Given the description of an element on the screen output the (x, y) to click on. 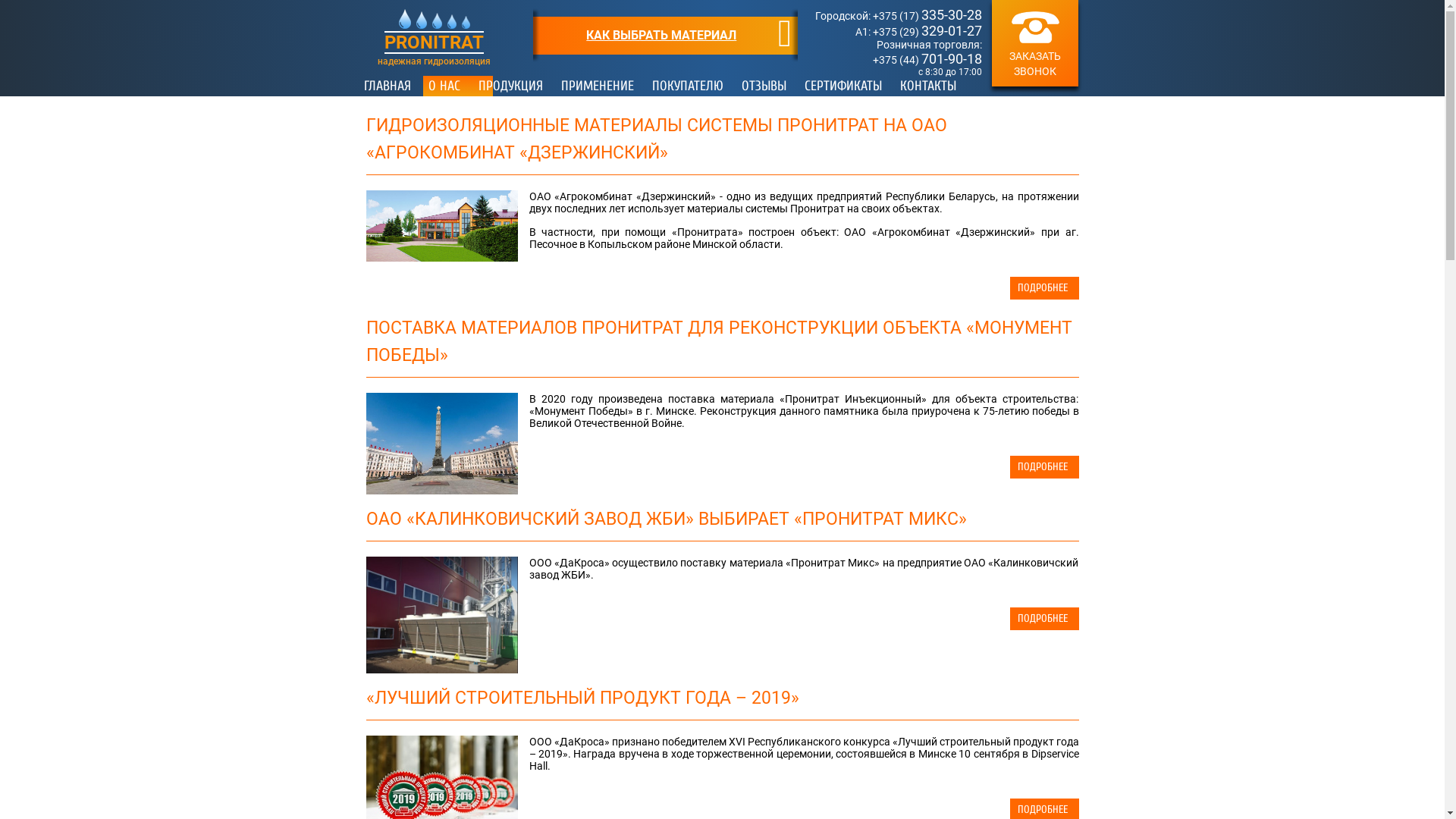
A1: +375 (29) 329-01-27 Element type: text (918, 31)
+375 (44) 701-90-18 Element type: text (927, 59)
